Given the description of an element on the screen output the (x, y) to click on. 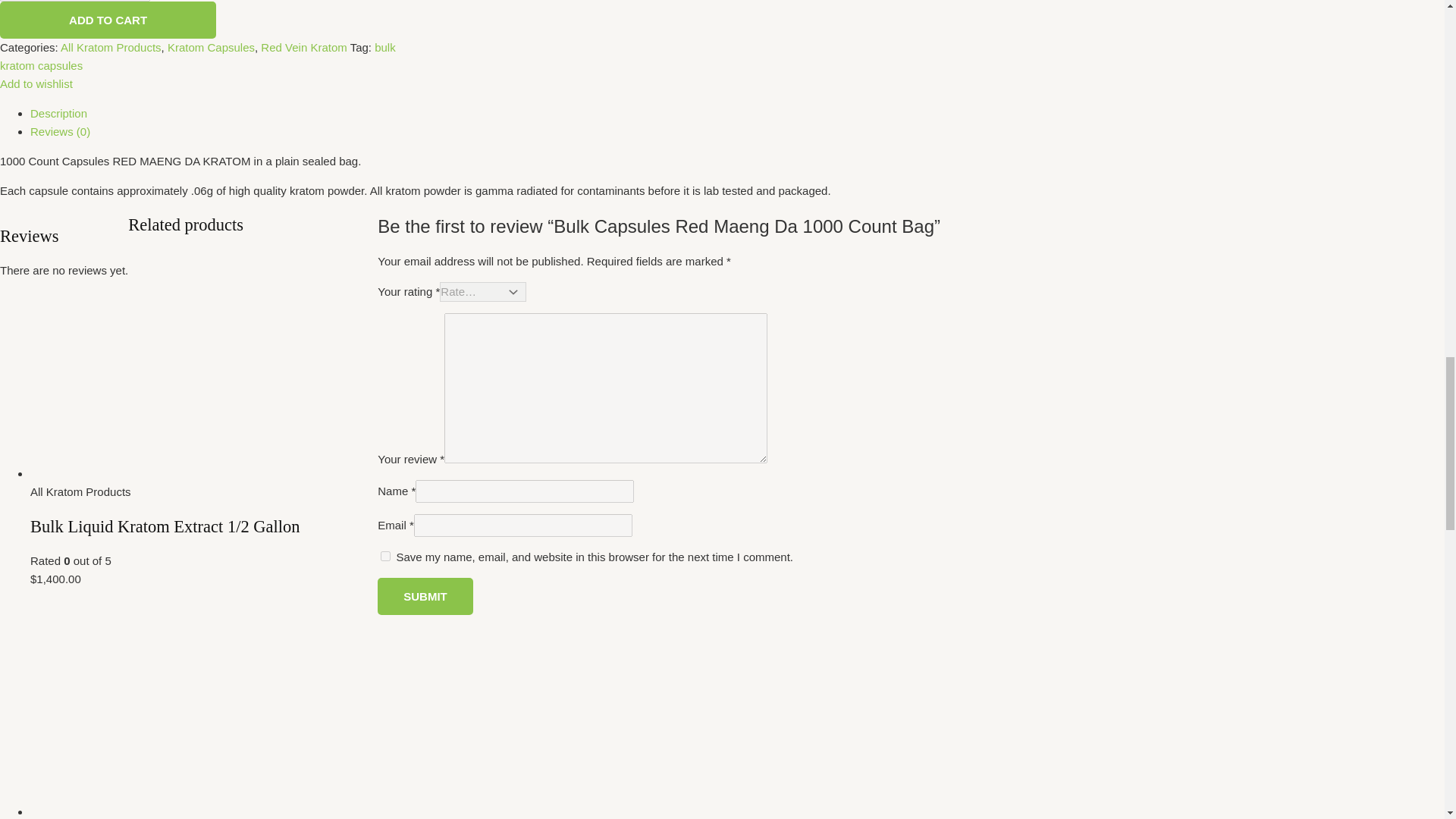
Submit (425, 596)
yes (385, 556)
